Given the description of an element on the screen output the (x, y) to click on. 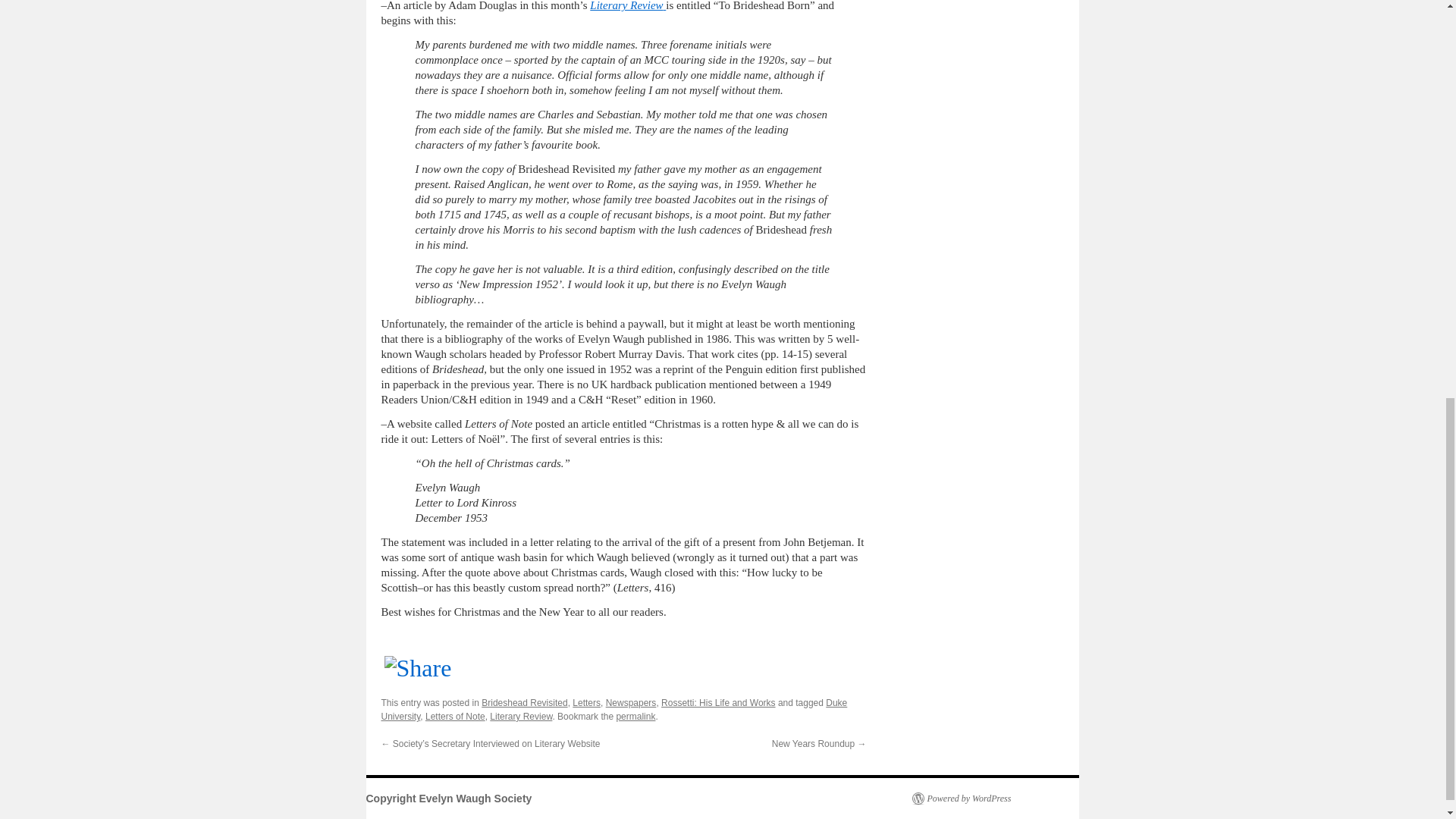
Duke University (613, 709)
Permalink to Christmas 2023 Roundup (635, 716)
Literary Review (627, 5)
Literary Review (520, 716)
permalink (635, 716)
Rossetti: His Life and Works (718, 702)
Letters (585, 702)
Newspapers (630, 702)
Letters of Note (454, 716)
Brideshead Revisited (524, 702)
